Given the description of an element on the screen output the (x, y) to click on. 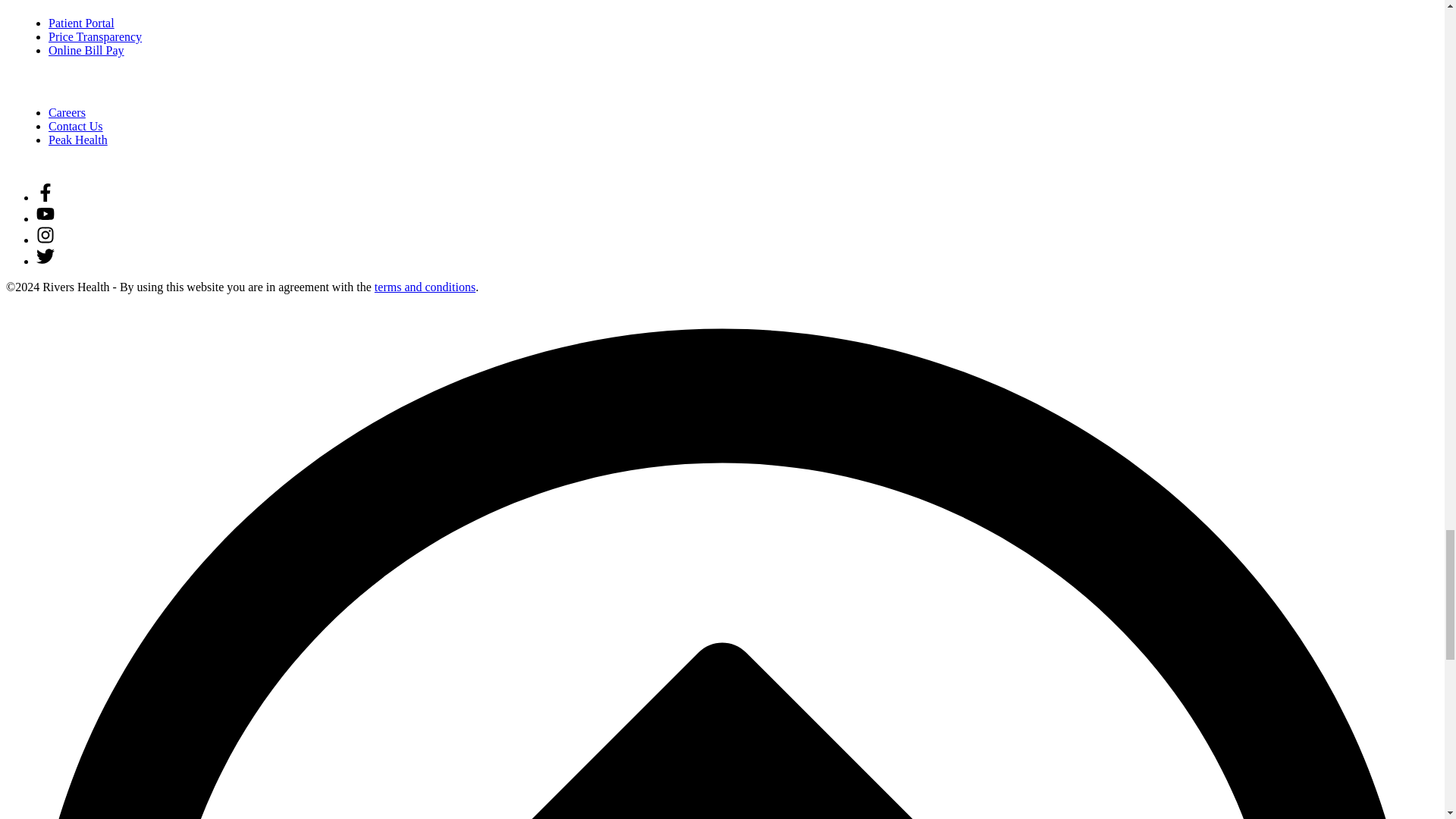
Twitter (45, 260)
Instagram (45, 239)
YouTube (45, 218)
Facebook (45, 196)
